Given the description of an element on the screen output the (x, y) to click on. 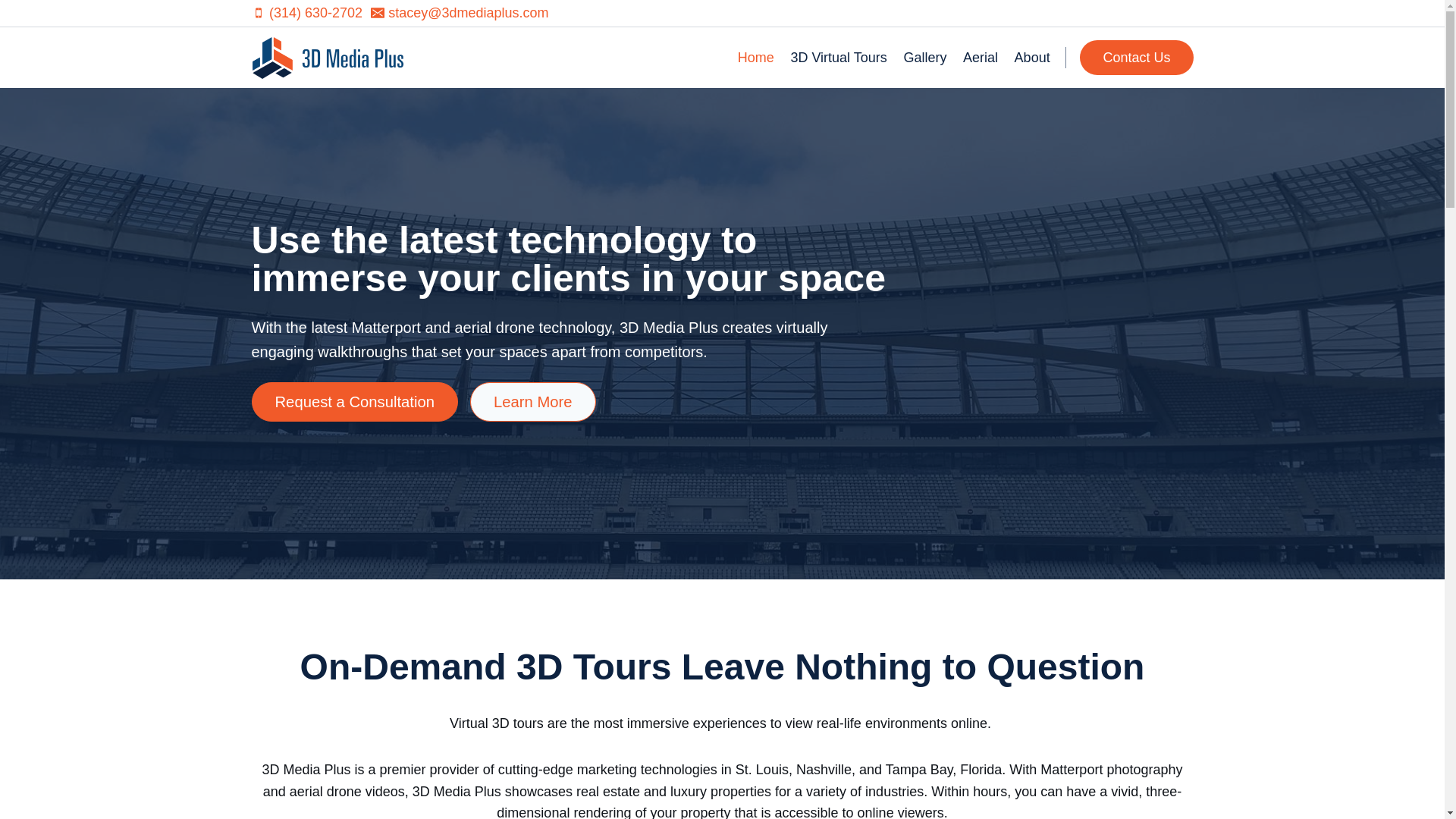
3D Virtual Tours Element type: text (838, 57)
Home Element type: text (755, 57)
Contact Us Element type: text (1135, 57)
stacey@3dmediaplus.com Element type: text (459, 13)
Request a Consultation Element type: text (354, 401)
Aerial Element type: text (980, 57)
About Element type: text (1032, 57)
Gallery Element type: text (925, 57)
Learn More Element type: text (533, 401)
(314) 630-2702 Element type: text (306, 13)
